Given the description of an element on the screen output the (x, y) to click on. 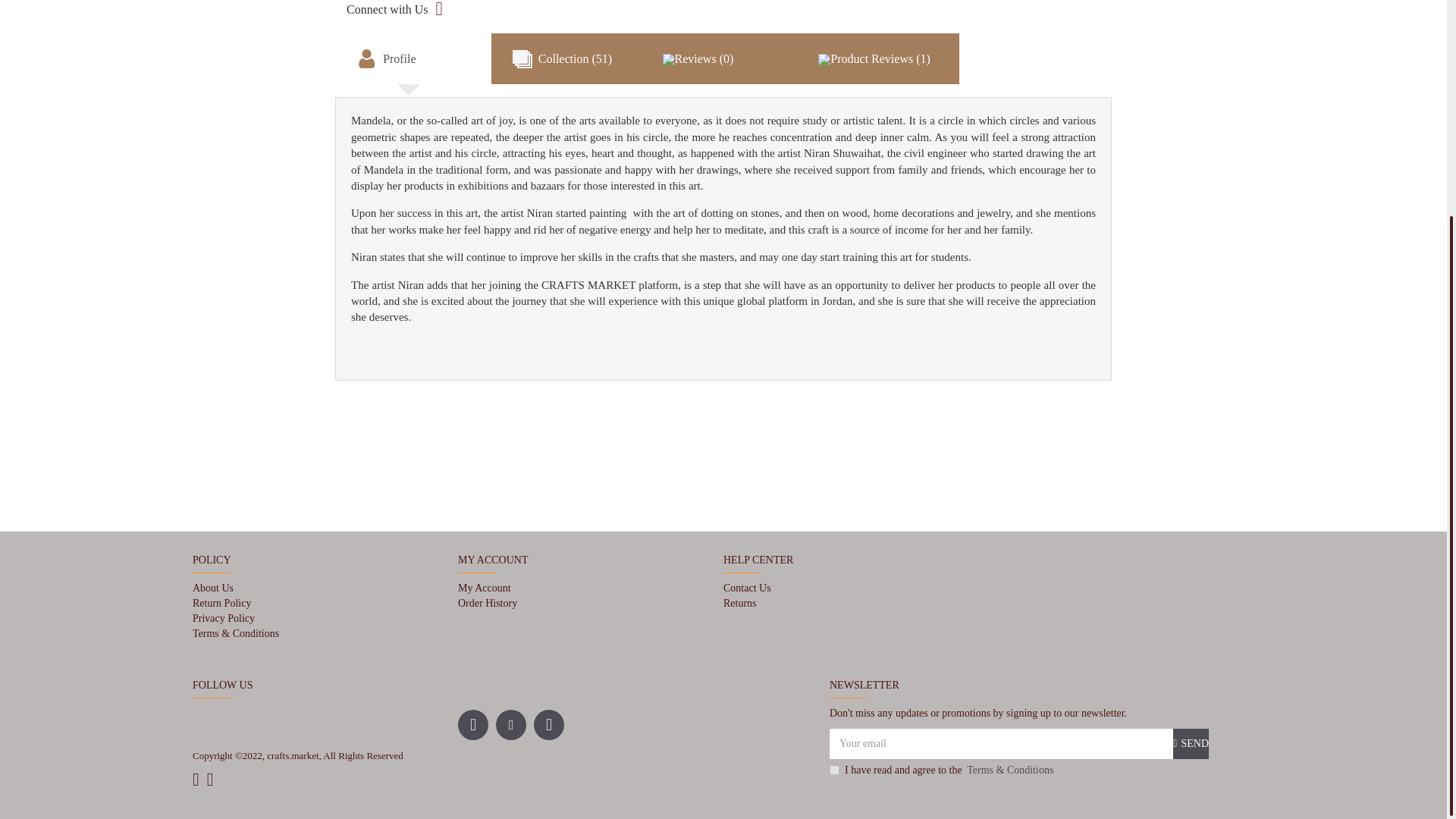
Instagram (510, 725)
1 (834, 769)
Twitter (549, 725)
Facebook (472, 725)
